Given the description of an element on the screen output the (x, y) to click on. 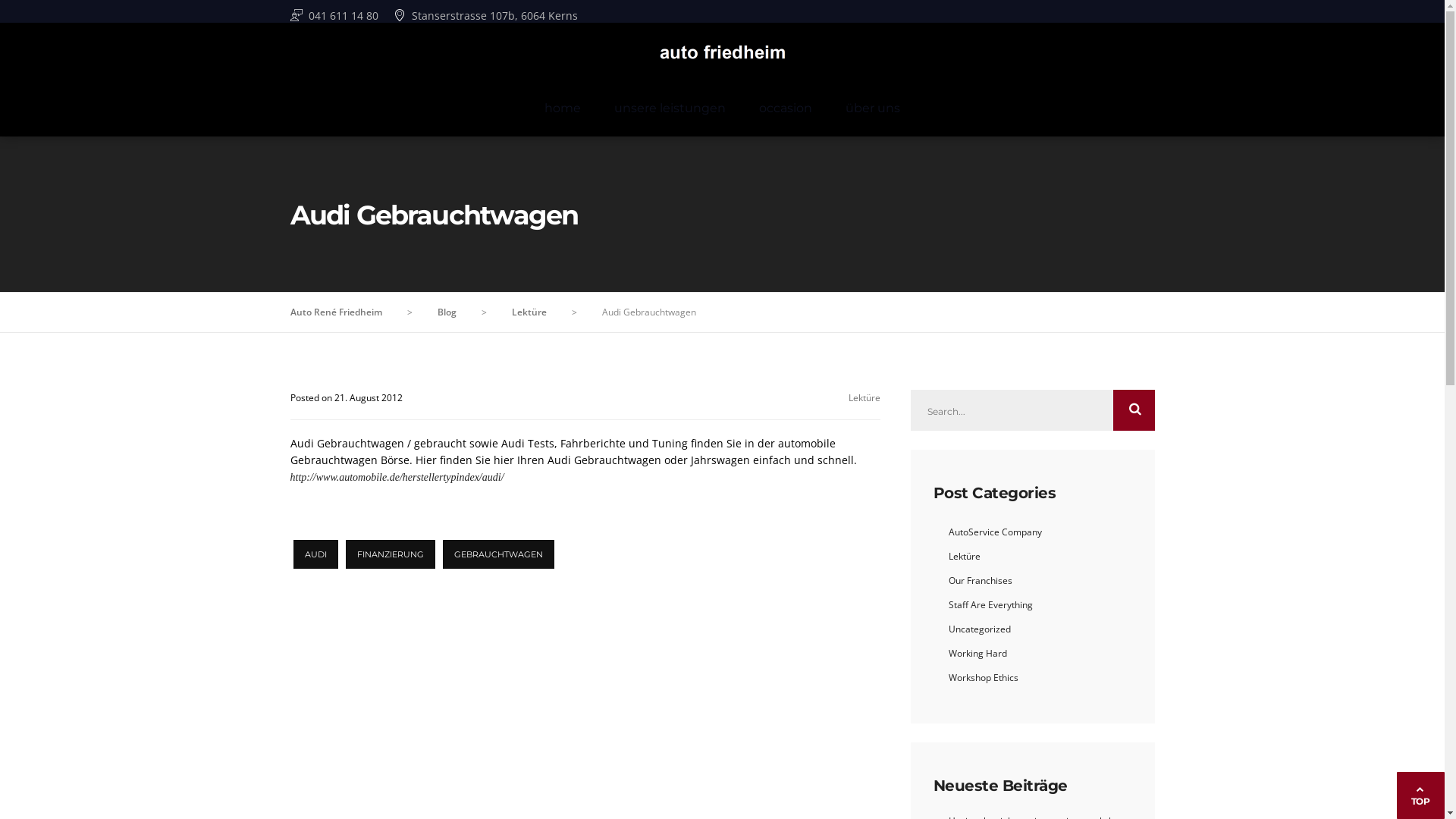
GEBRAUCHTWAGEN Element type: text (498, 553)
home Element type: text (562, 107)
occasion Element type: text (785, 107)
Uncategorized Element type: text (978, 628)
unsere leistungen Element type: text (669, 107)
Working Hard Element type: text (976, 652)
Workshop Ethics Element type: text (982, 677)
Our Franchises Element type: text (979, 580)
http://www.automobile.de/herstellertypindex/audi/ Element type: text (396, 477)
Staff Are Everything Element type: text (989, 604)
AutoService Company Element type: text (994, 531)
Blog Element type: text (445, 311)
AUDI Element type: text (314, 553)
FINANZIERUNG Element type: text (390, 553)
